Given the description of an element on the screen output the (x, y) to click on. 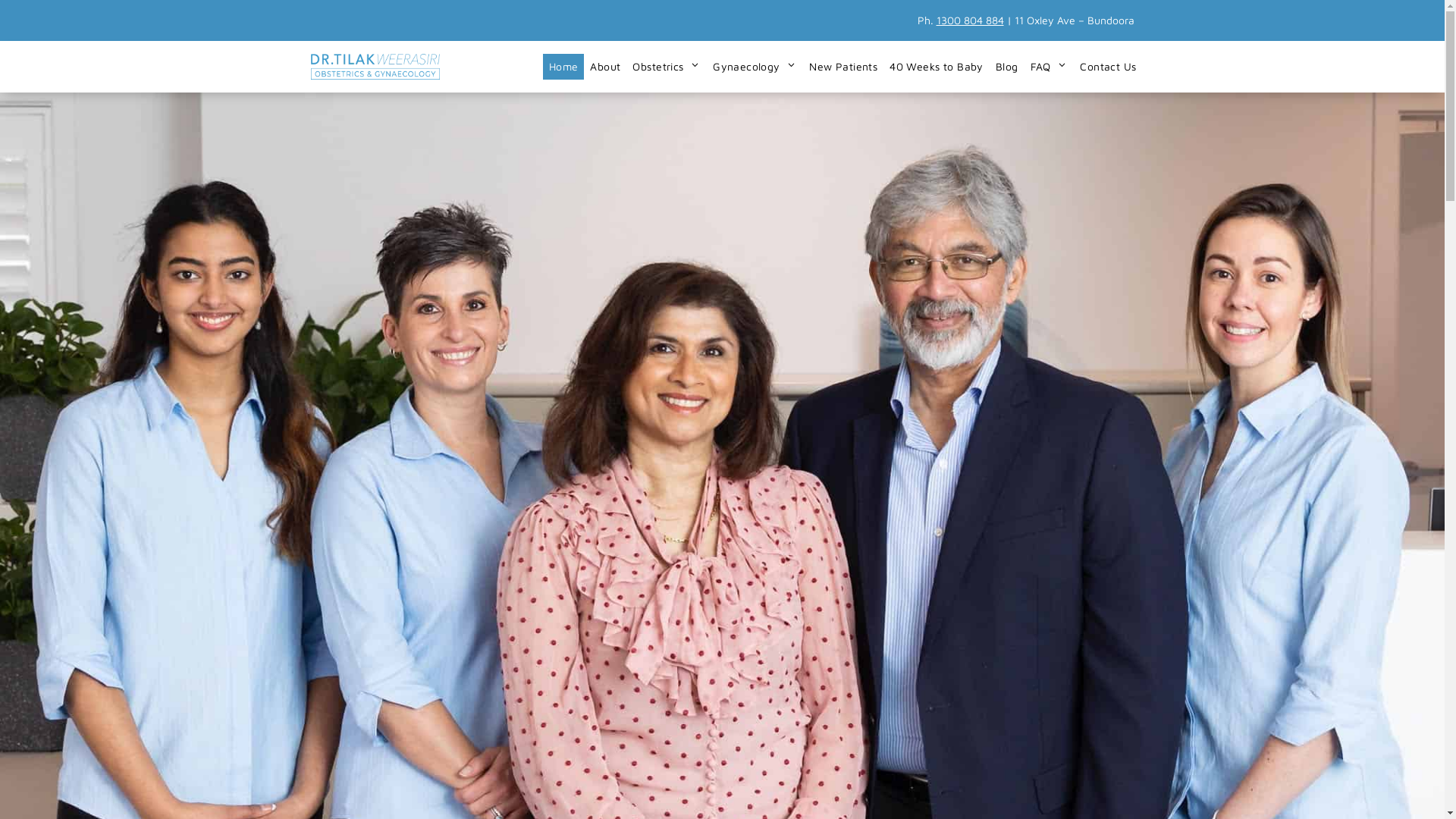
Blog Element type: text (1006, 65)
Gynaecology Element type: text (754, 65)
Contact Us Element type: text (1107, 65)
FAQ Element type: text (1049, 65)
About Element type: text (604, 65)
New Patients Element type: text (843, 65)
Obstetrics Element type: text (666, 65)
Home Element type: text (563, 65)
1300 804 884 Element type: text (969, 19)
40 Weeks to Baby Element type: text (936, 65)
